Given the description of an element on the screen output the (x, y) to click on. 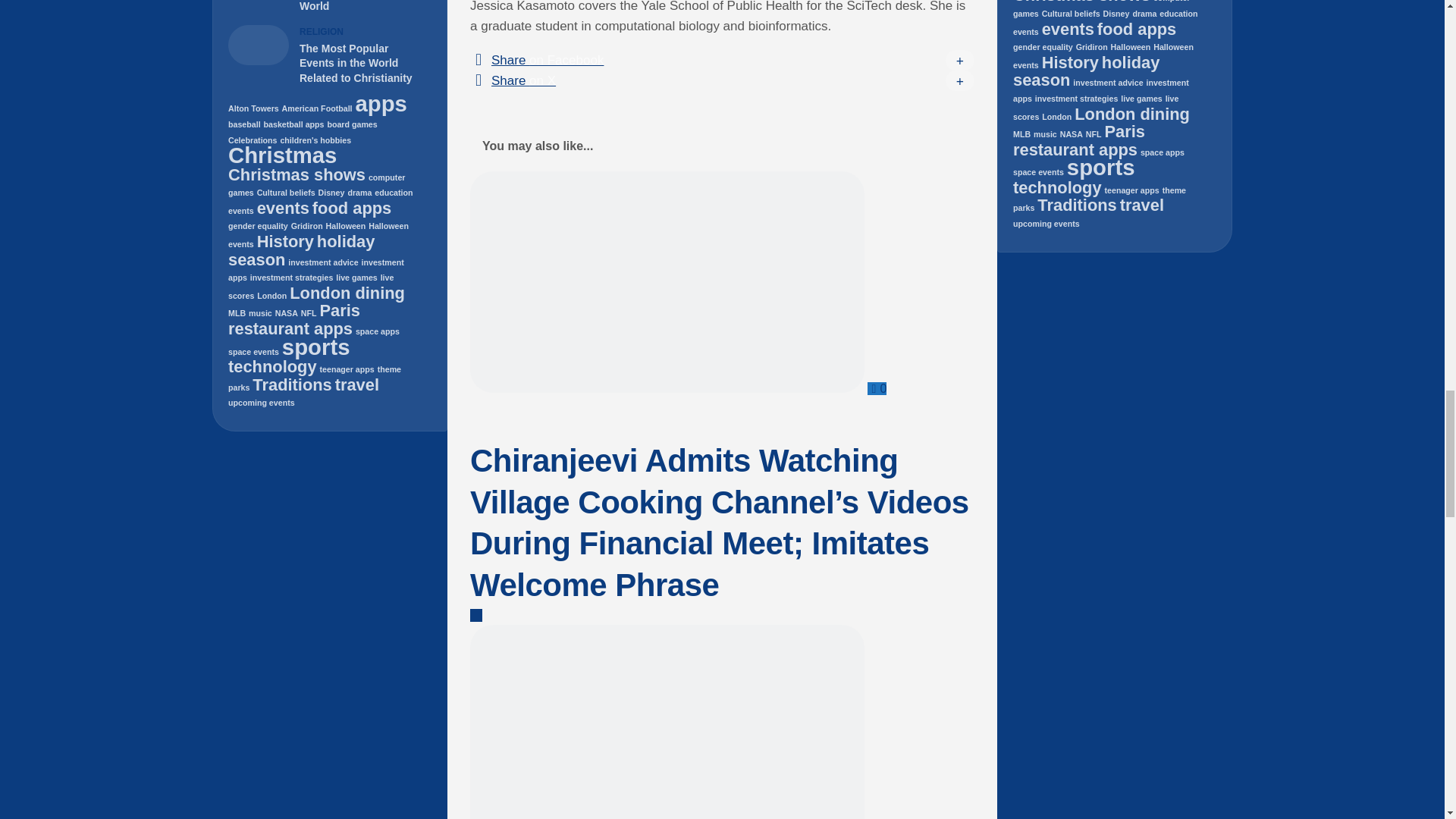
Share on Facebook (722, 59)
Share on X (722, 80)
0 (876, 388)
